Given the description of an element on the screen output the (x, y) to click on. 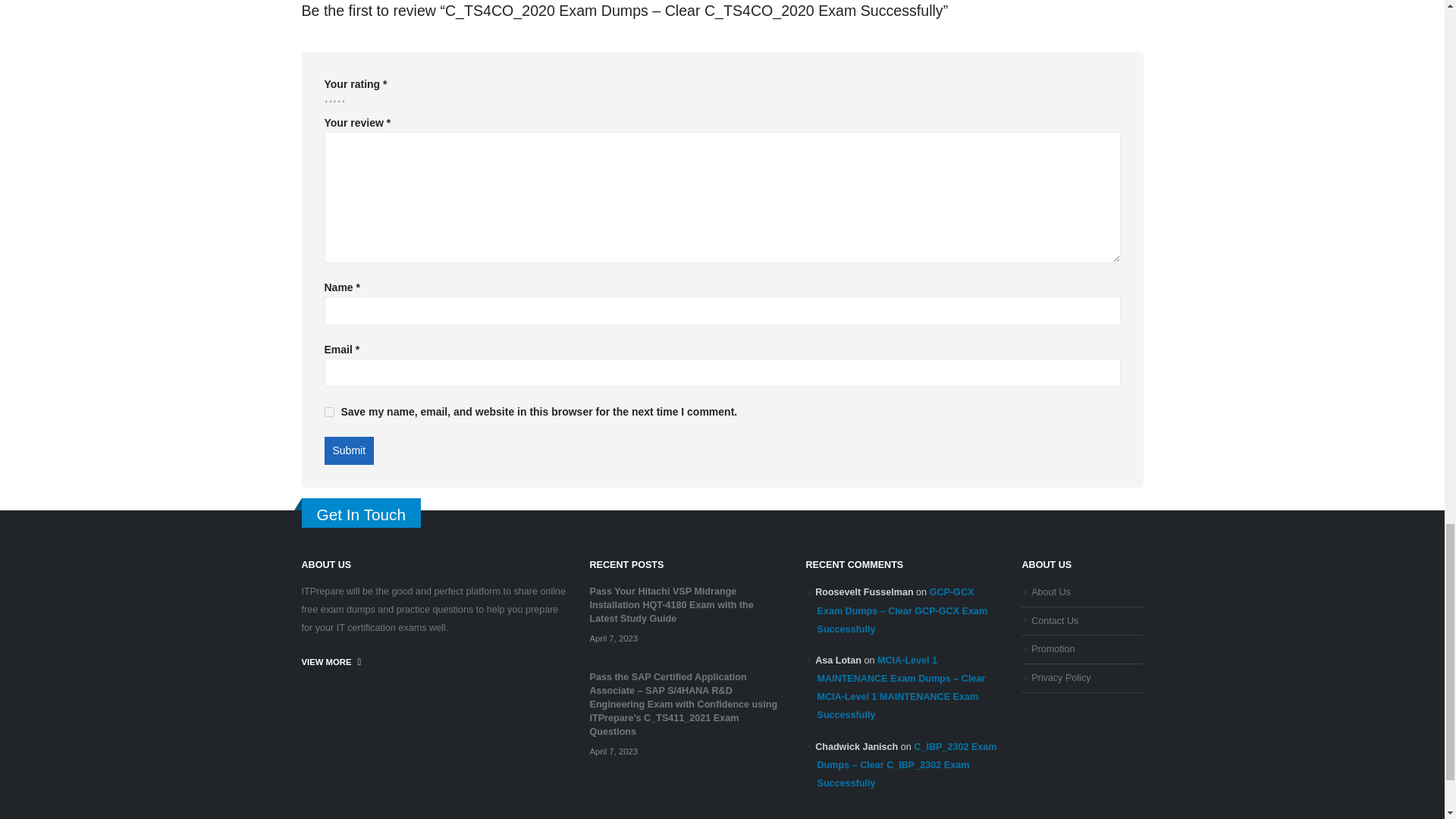
Contact Us (1054, 620)
Submit (349, 451)
yes (329, 411)
Privacy Policy (1060, 677)
Submit (349, 451)
Promotion (1052, 648)
VIEW MORE (331, 661)
About Us (1050, 592)
